Given the description of an element on the screen output the (x, y) to click on. 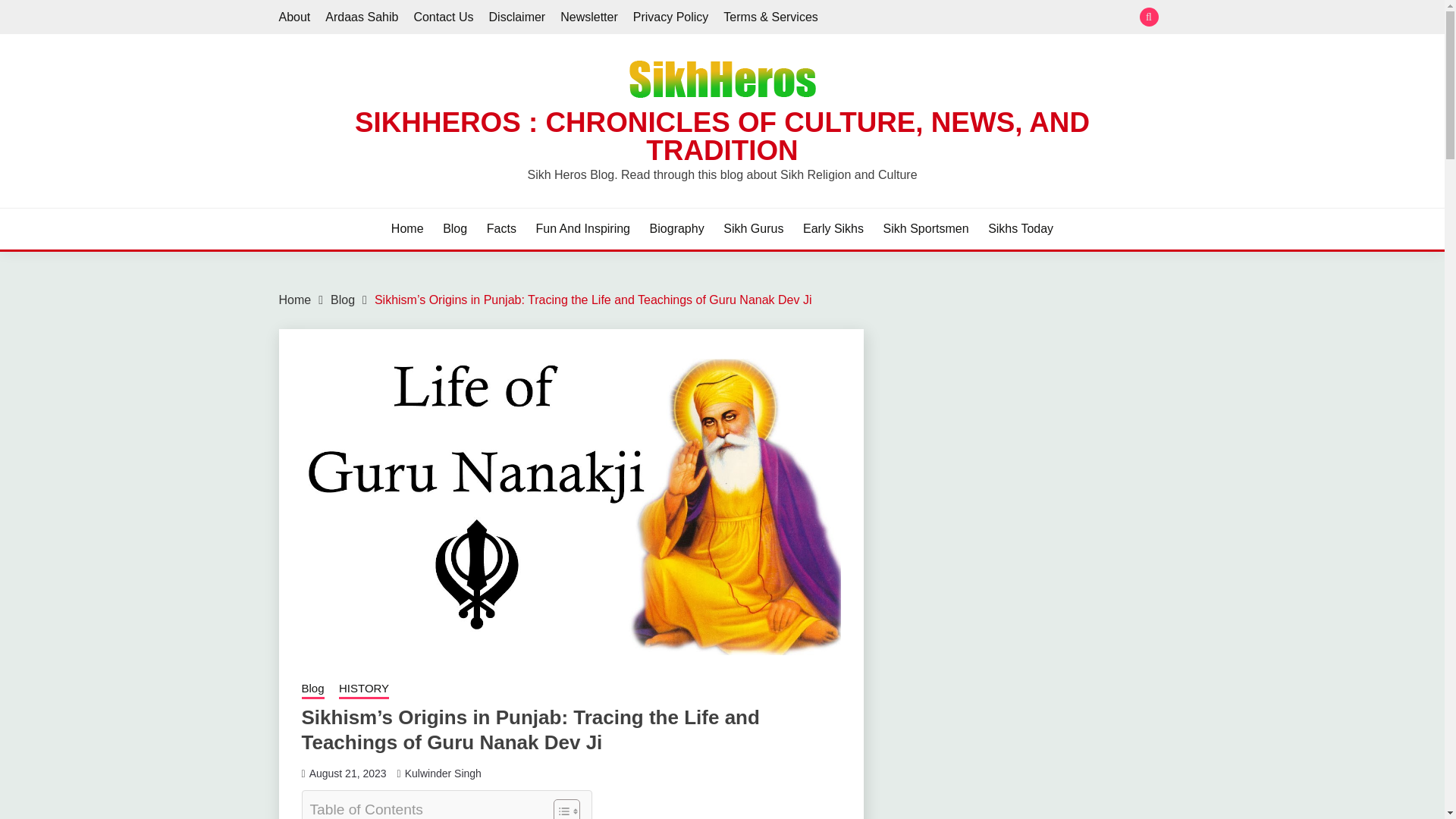
Blog (312, 690)
Biography (676, 229)
Home (295, 299)
Blog (454, 229)
Kulwinder Singh (442, 773)
Home (407, 229)
Search (832, 18)
Sikh Gurus (753, 229)
Facts (501, 229)
Privacy Policy (671, 16)
